Given the description of an element on the screen output the (x, y) to click on. 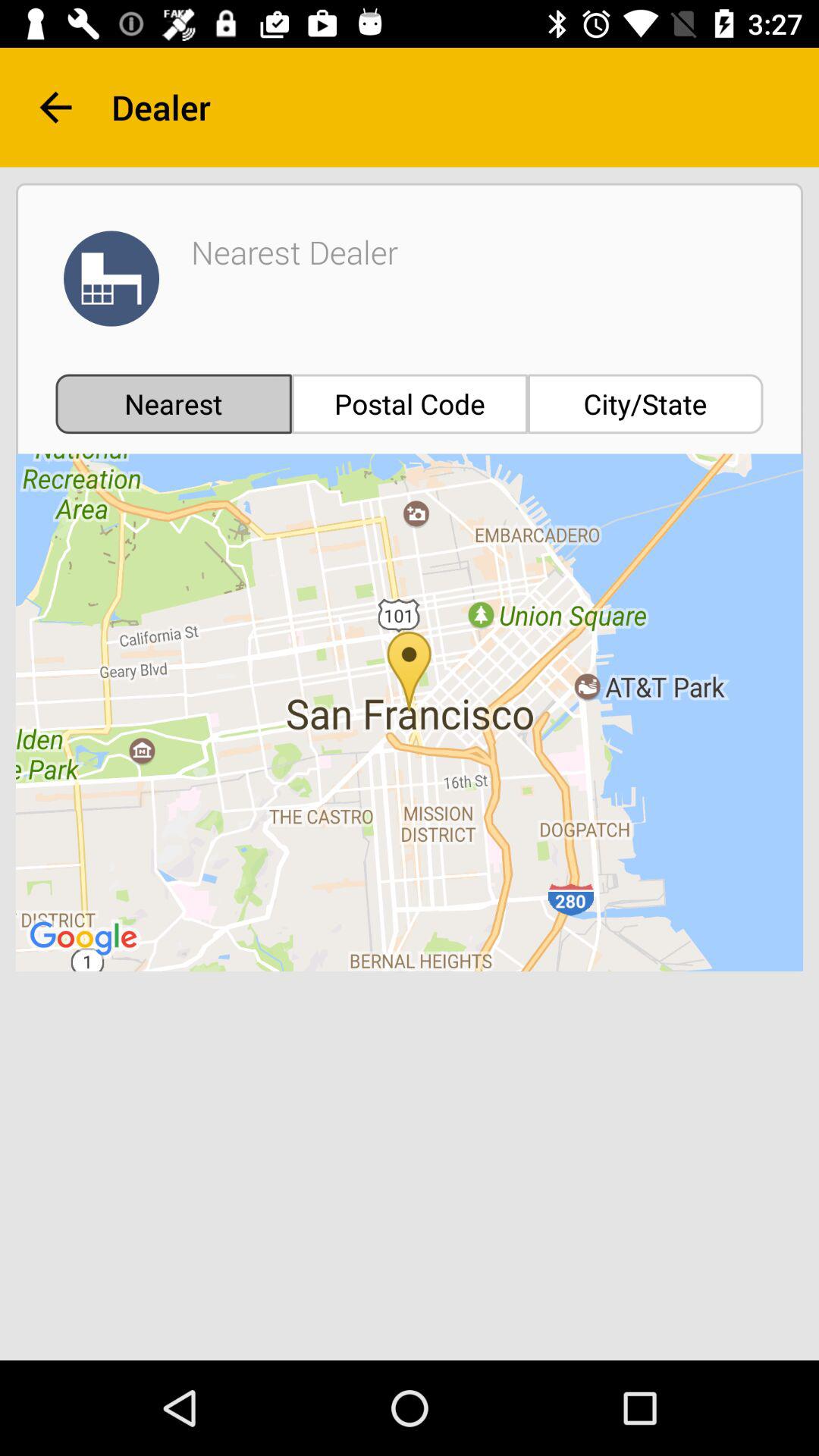
open the item next to the city/state (409, 403)
